Given the description of an element on the screen output the (x, y) to click on. 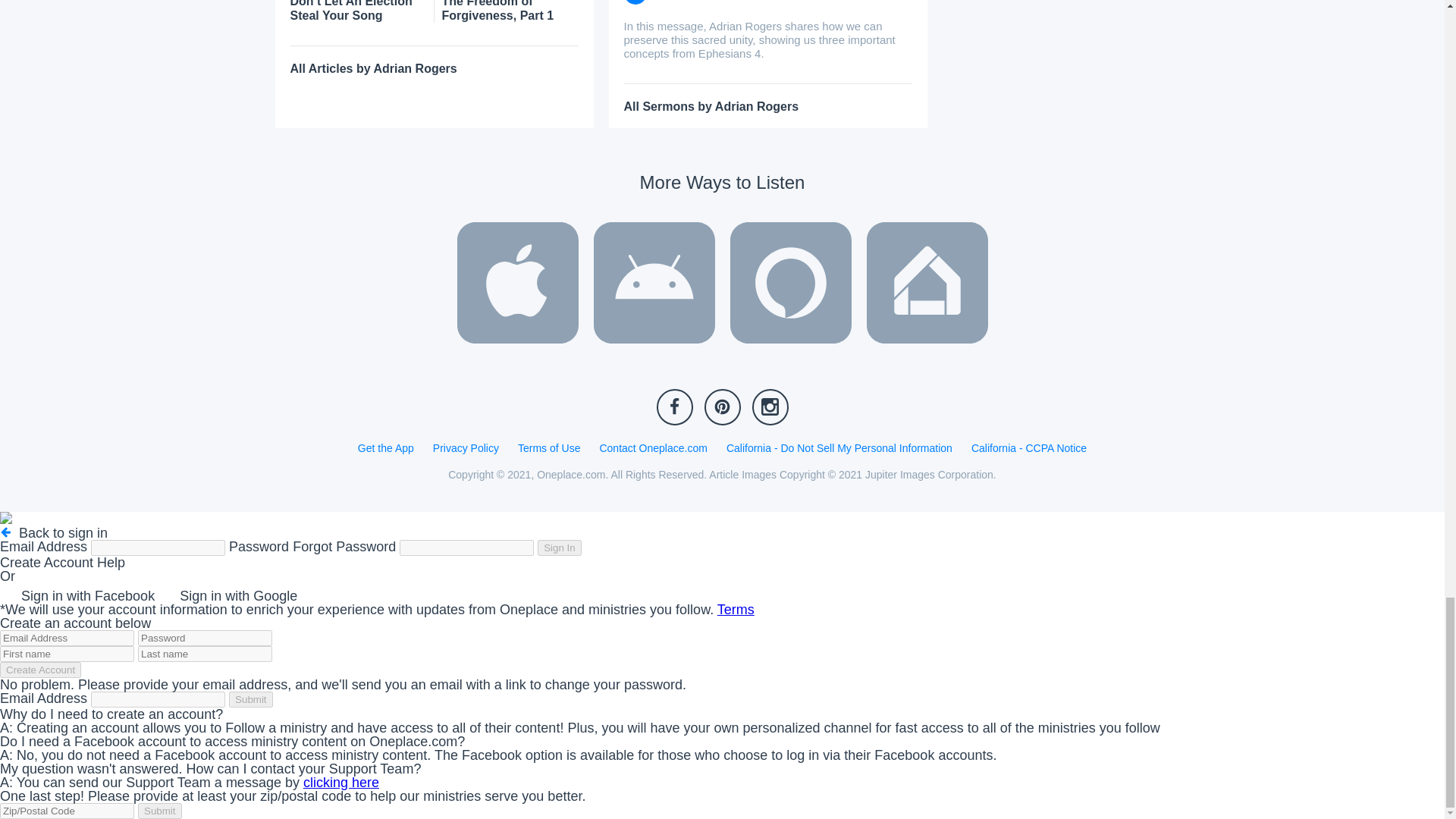
Get the App (385, 448)
All Sermons by Adrian Rogers (710, 106)
The Freedom of Forgiveness, Part 1 (509, 11)
California - Do Not Sell My Personal Information (839, 448)
Privacy Policy (465, 448)
All Articles by Adrian Rogers (373, 68)
A Unified Church (767, 2)
Contact Oneplace.com (652, 448)
California - CCPA Notice (1028, 448)
Terms of Use (548, 448)
